Given the description of an element on the screen output the (x, y) to click on. 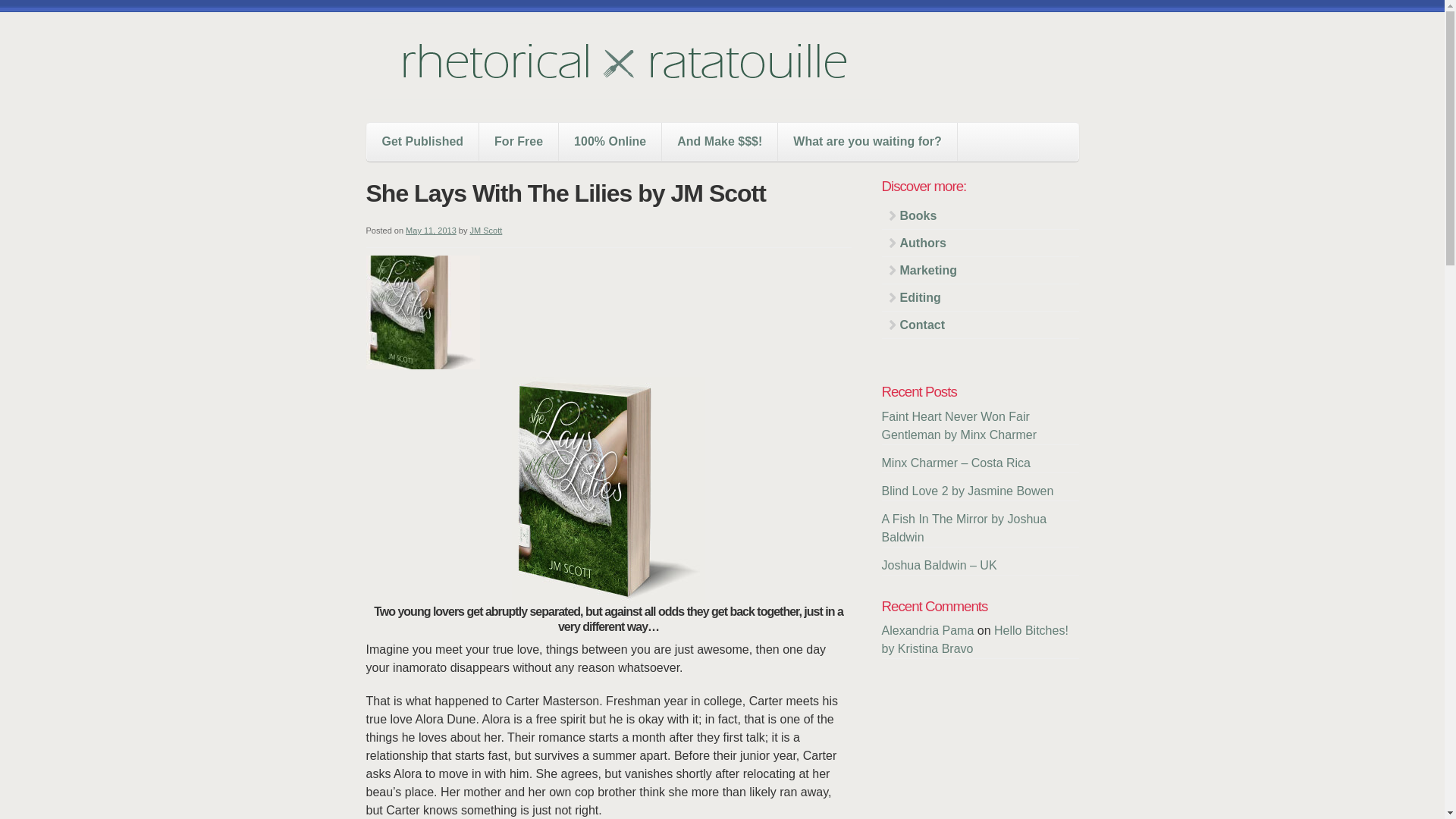
JM Scott (486, 230)
May 11, 2013 (431, 230)
Blind Love 2 by Jasmine Bowen (966, 490)
A Fish In The Mirror by Joshua Baldwin (963, 527)
Marketing (979, 270)
View all posts by JM Scott (486, 230)
What are you waiting for? (866, 141)
Contact (979, 325)
Authors (979, 243)
Faint Heart Never Won Fair Gentleman by Minx Charmer (958, 425)
